Given the description of an element on the screen output the (x, y) to click on. 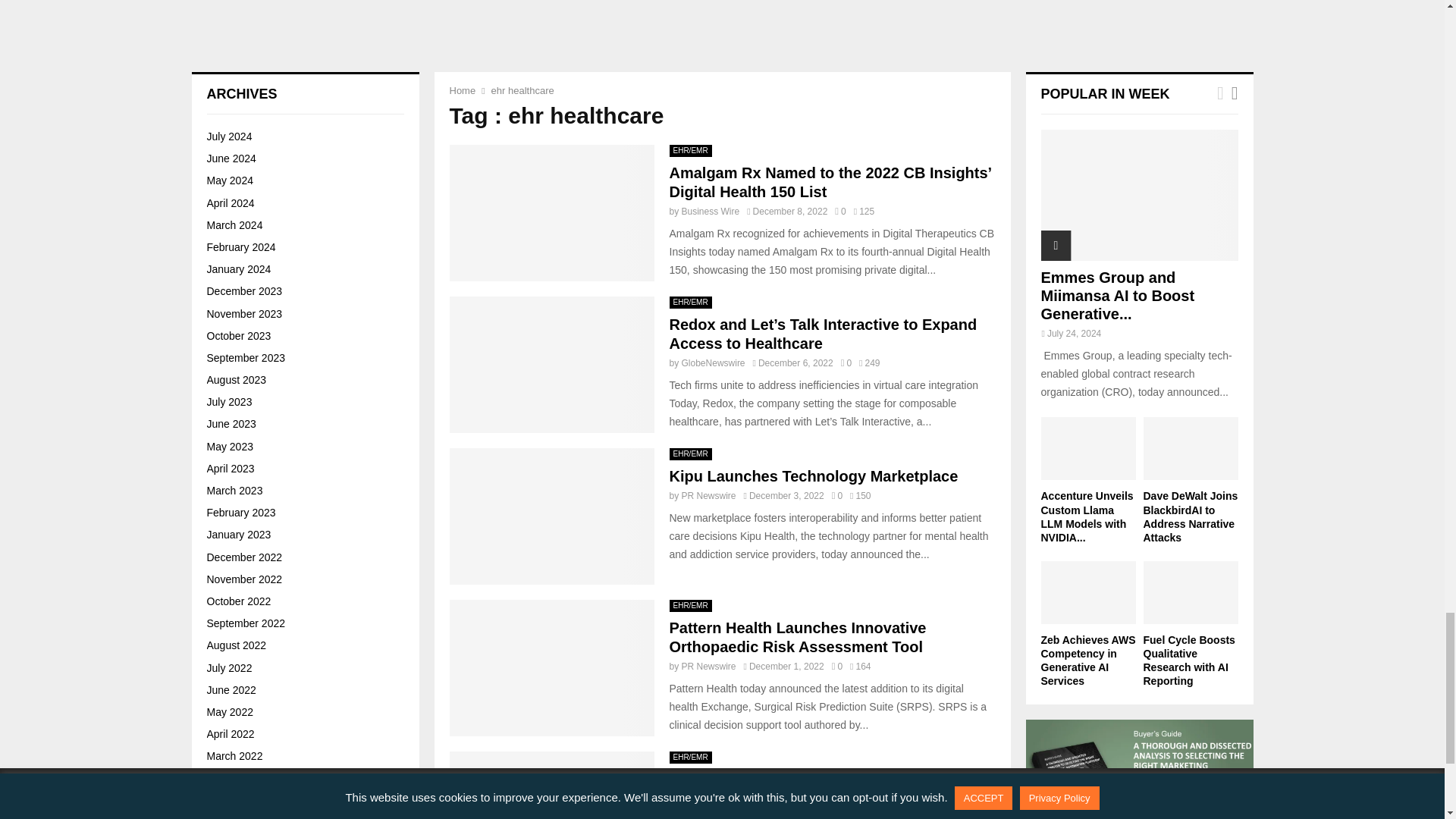
 Accenture Unveils Custom Llama LLM Models with NVIDIA AI  (348, 50)
Fuel Cycle Boosts Qualitative Research with AI Reporting (247, 349)
Accenture Unveils Custom Llama LLM Models with NVIDIA AI (247, 50)
 Fuel Cycle Boosts Qualitative Research with AI Reporting  (346, 342)
 Dave DeWalt Joins BlackbirdAI to Address Narrative Attacks  (343, 154)
Dave DeWalt Joins BlackbirdAI to Address Narrative Attacks (247, 154)
Zeb Achieves AWS Competency in Generative AI Services (247, 259)
 Zeb Achieves AWS Competency in Generative AI Services  (351, 252)
